Given the description of an element on the screen output the (x, y) to click on. 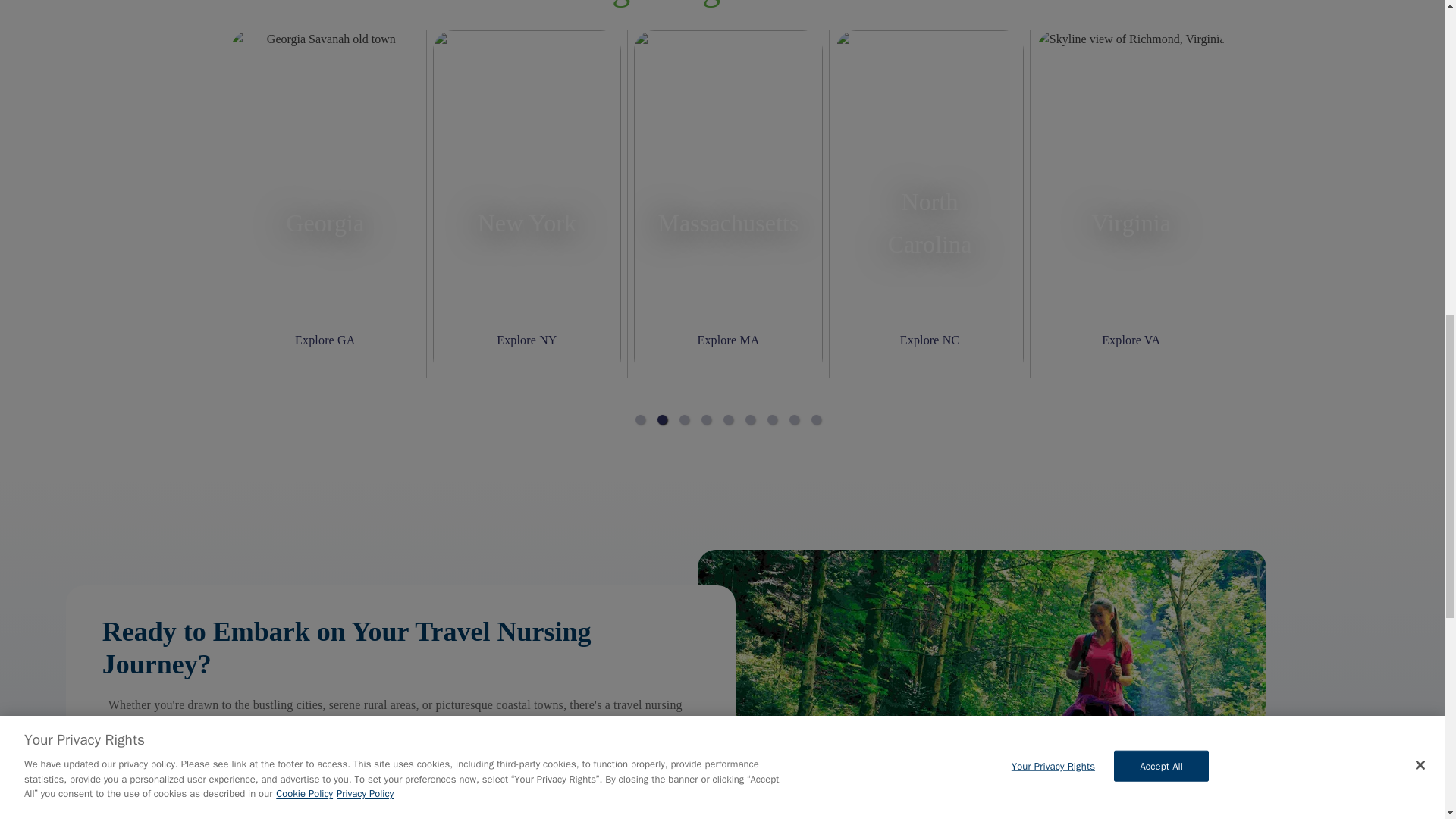
Explore MA (727, 339)
Explore GA (324, 339)
Georgia (325, 221)
North Carolina (930, 221)
Explore NY (525, 339)
Skyline view of Richmond, Virginia (1130, 204)
Massachusetts (727, 221)
Georgia Savanah old town  (325, 204)
New York (527, 221)
